Given the description of an element on the screen output the (x, y) to click on. 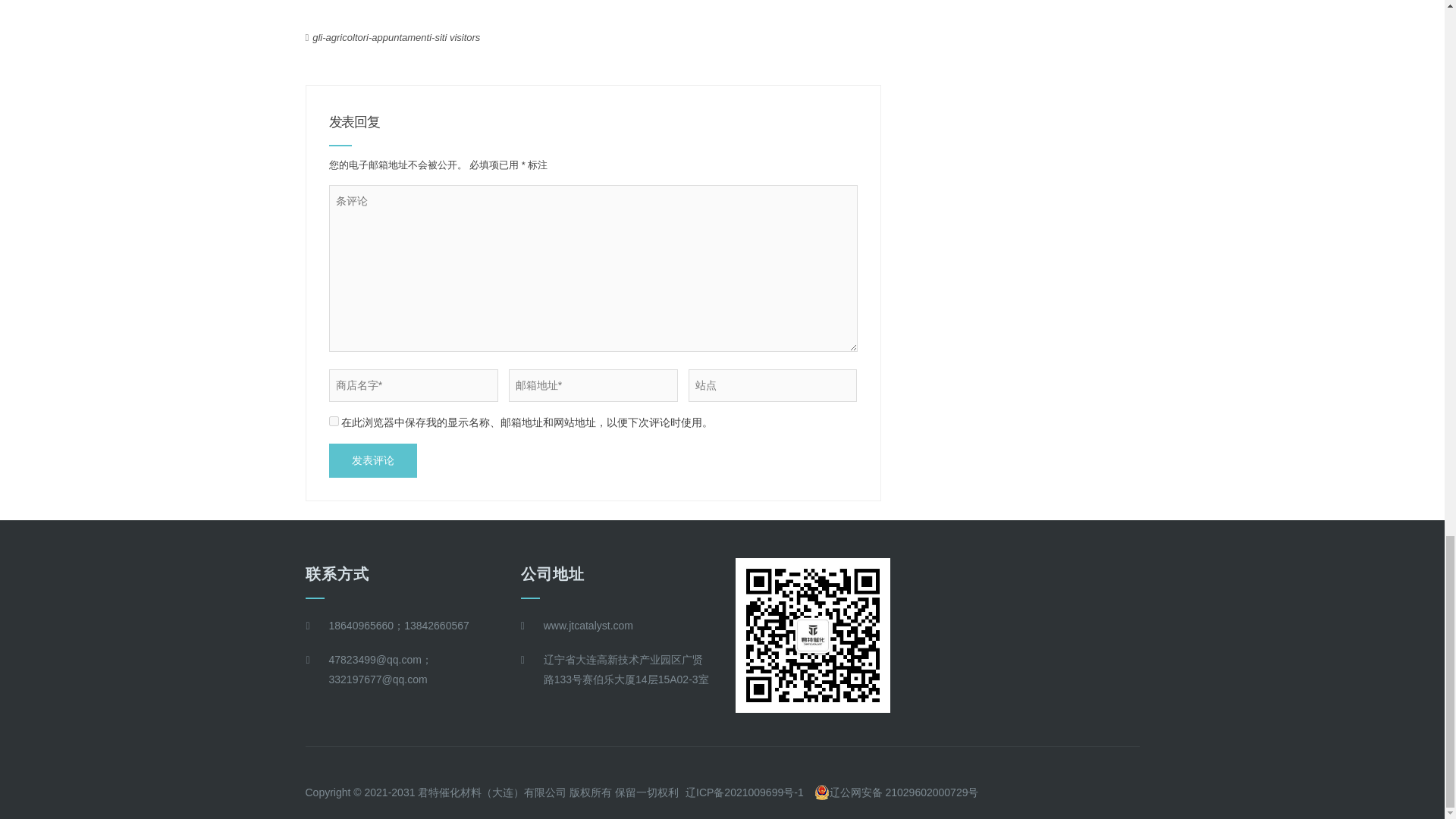
yes (334, 420)
